Given the description of an element on the screen output the (x, y) to click on. 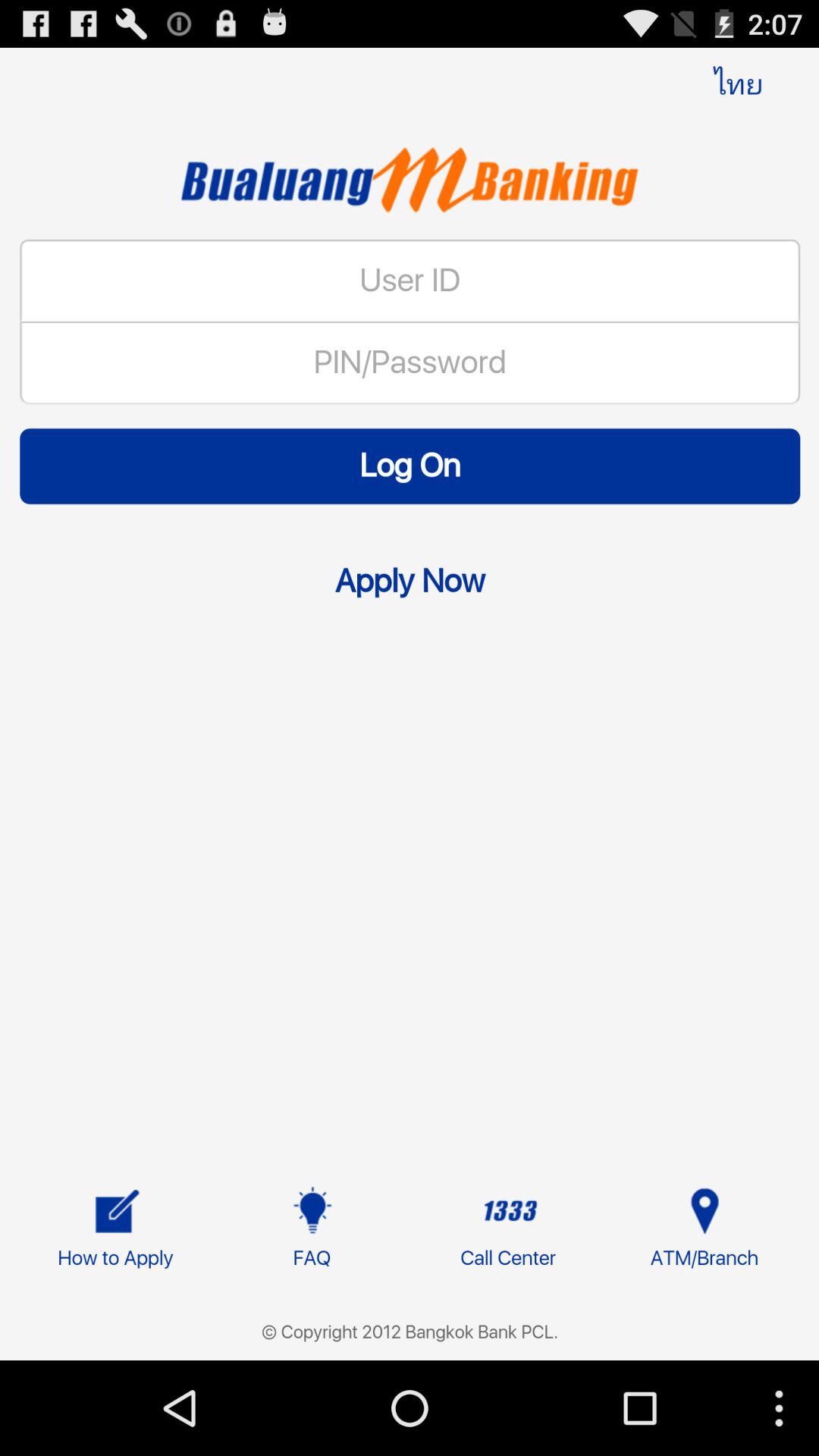
sign in (409, 740)
